Given the description of an element on the screen output the (x, y) to click on. 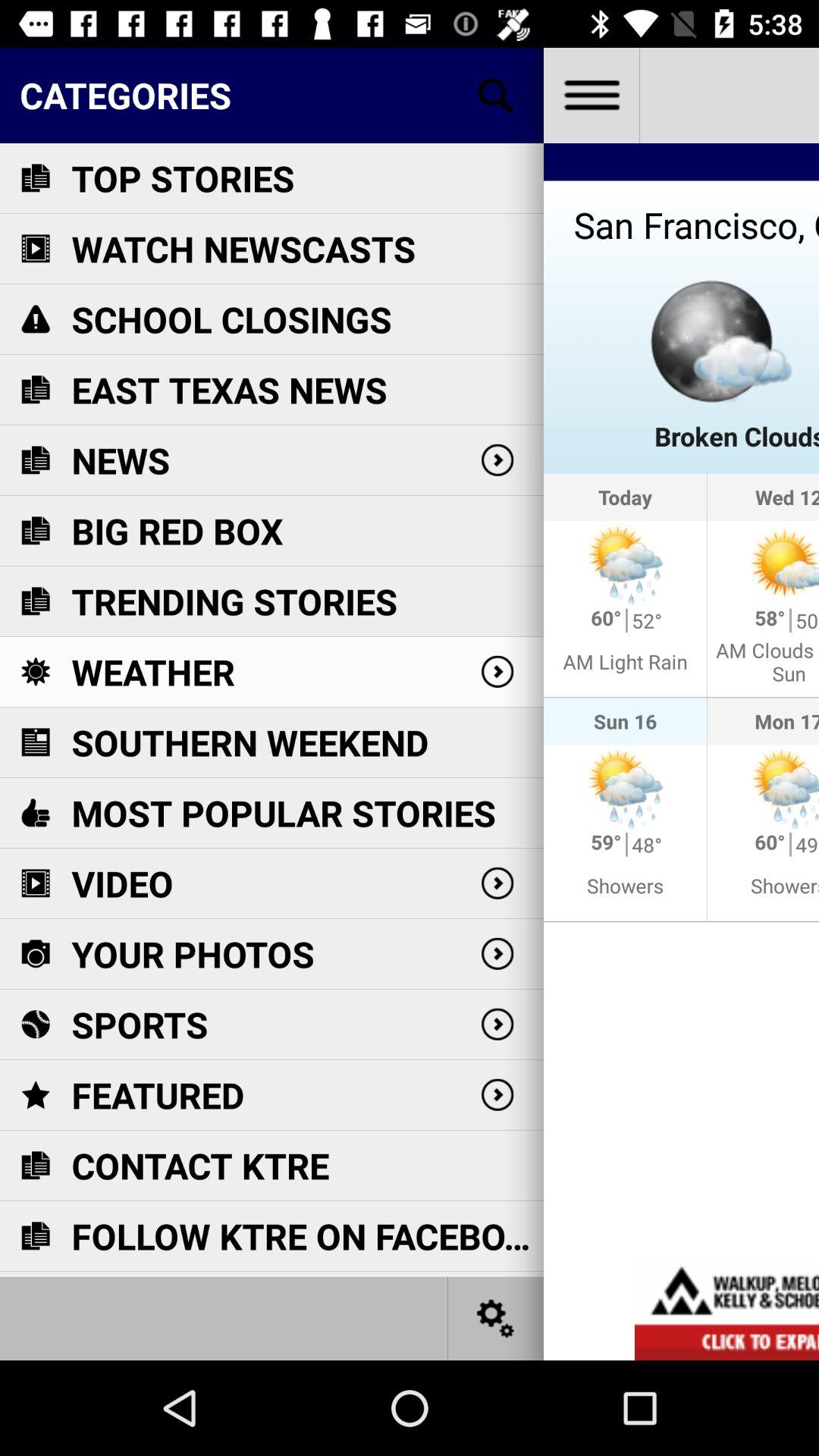
go to advertisement link (726, 1310)
